Given the description of an element on the screen output the (x, y) to click on. 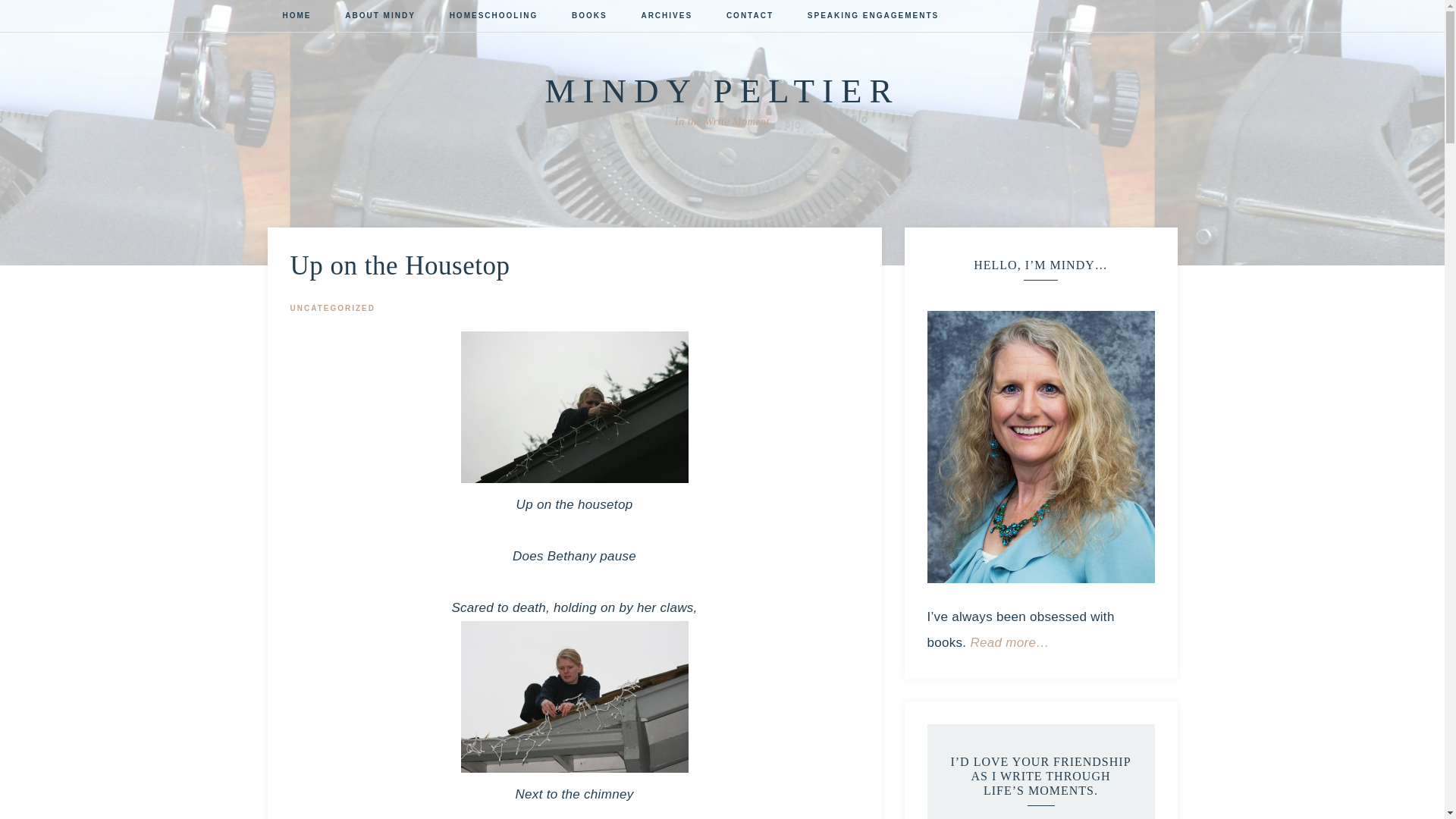
HOMESCHOOLING (493, 17)
ABOUT MINDY (380, 17)
ARCHIVES (666, 17)
MINDY PELTIER (721, 90)
CONTACT (750, 17)
UNCATEGORIZED (331, 307)
HOME (296, 17)
SPEAKING ENGAGEMENTS (872, 17)
BOOKS (589, 17)
